Given the description of an element on the screen output the (x, y) to click on. 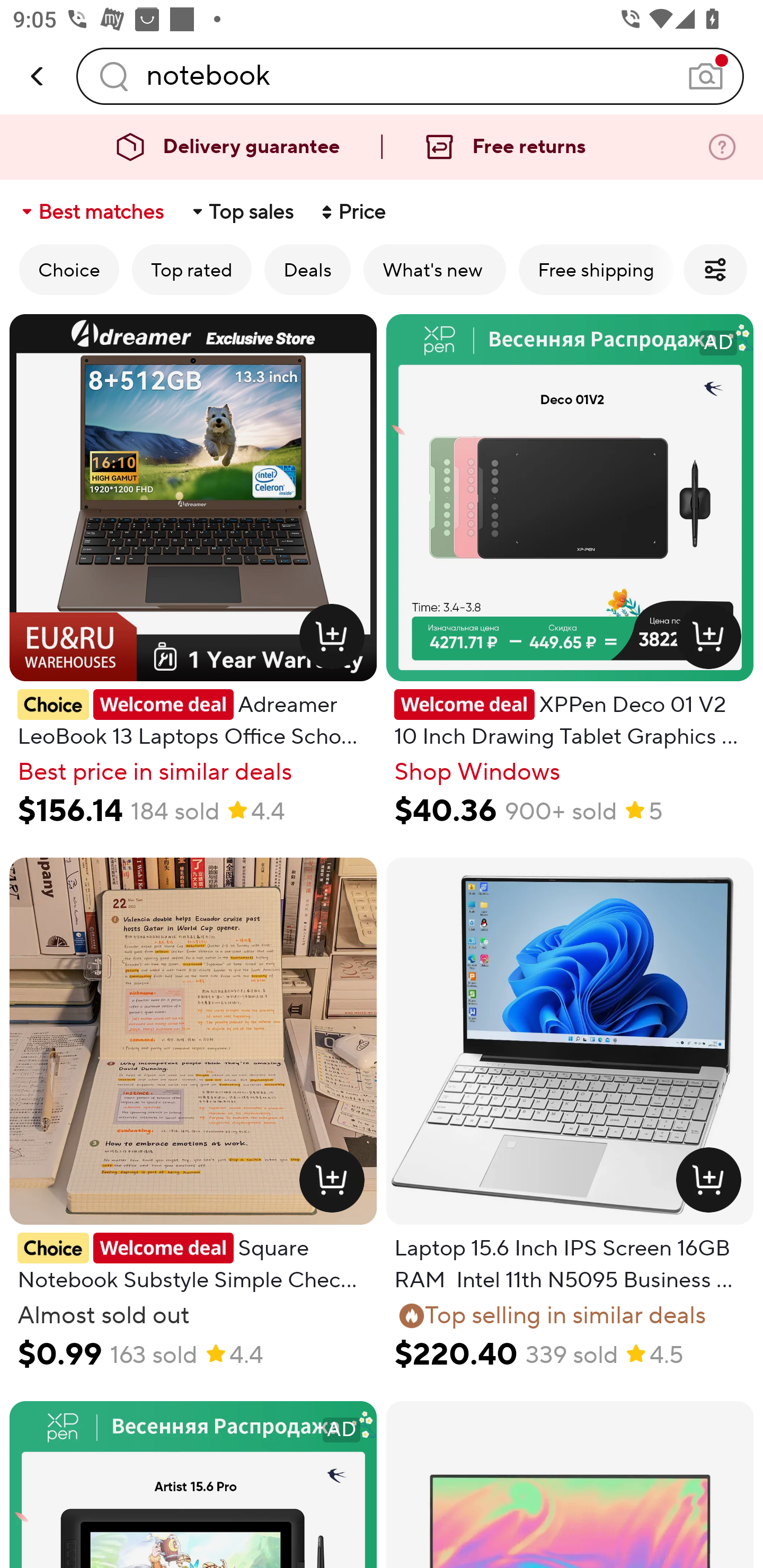
back (38, 75)
notebook Search query (409, 76)
notebook Search query (409, 76)
Best matches (91, 212)
Top sales (241, 212)
Price (352, 212)
Choice (69, 269)
Top rated (191, 269)
Deals (307, 269)
What's new  (434, 269)
Free shipping (595, 269)
